Given the description of an element on the screen output the (x, y) to click on. 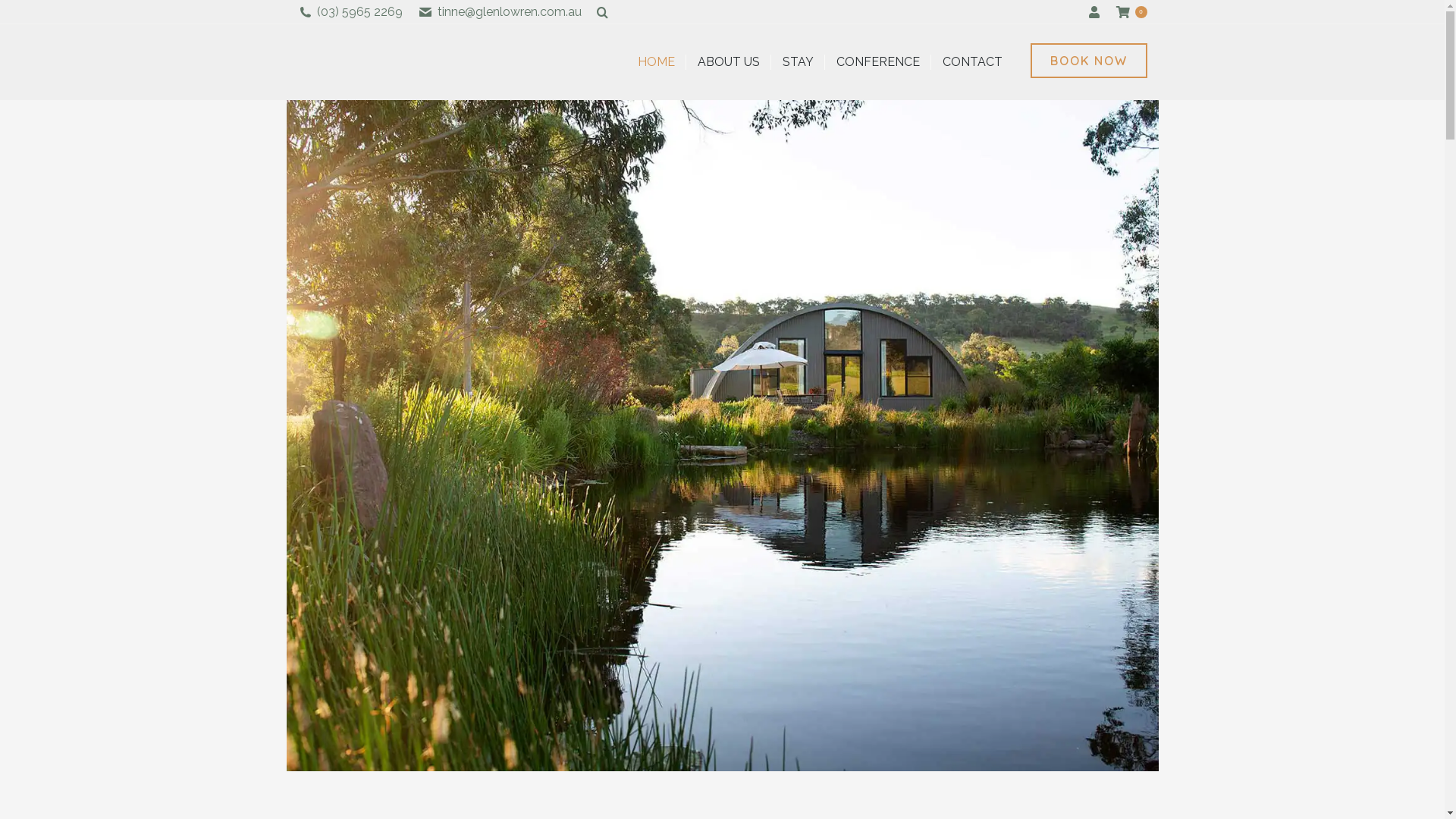
STAY Element type: text (798, 61)
BOOK NOW Element type: text (1087, 59)
 0 Element type: text (1131, 11)
CONFERENCE Element type: text (877, 61)
Go! Element type: text (25, 17)
HOME Element type: text (655, 61)
CONTACT Element type: text (971, 61)
ABOUT US Element type: text (728, 61)
  Element type: text (1094, 11)
